Given the description of an element on the screen output the (x, y) to click on. 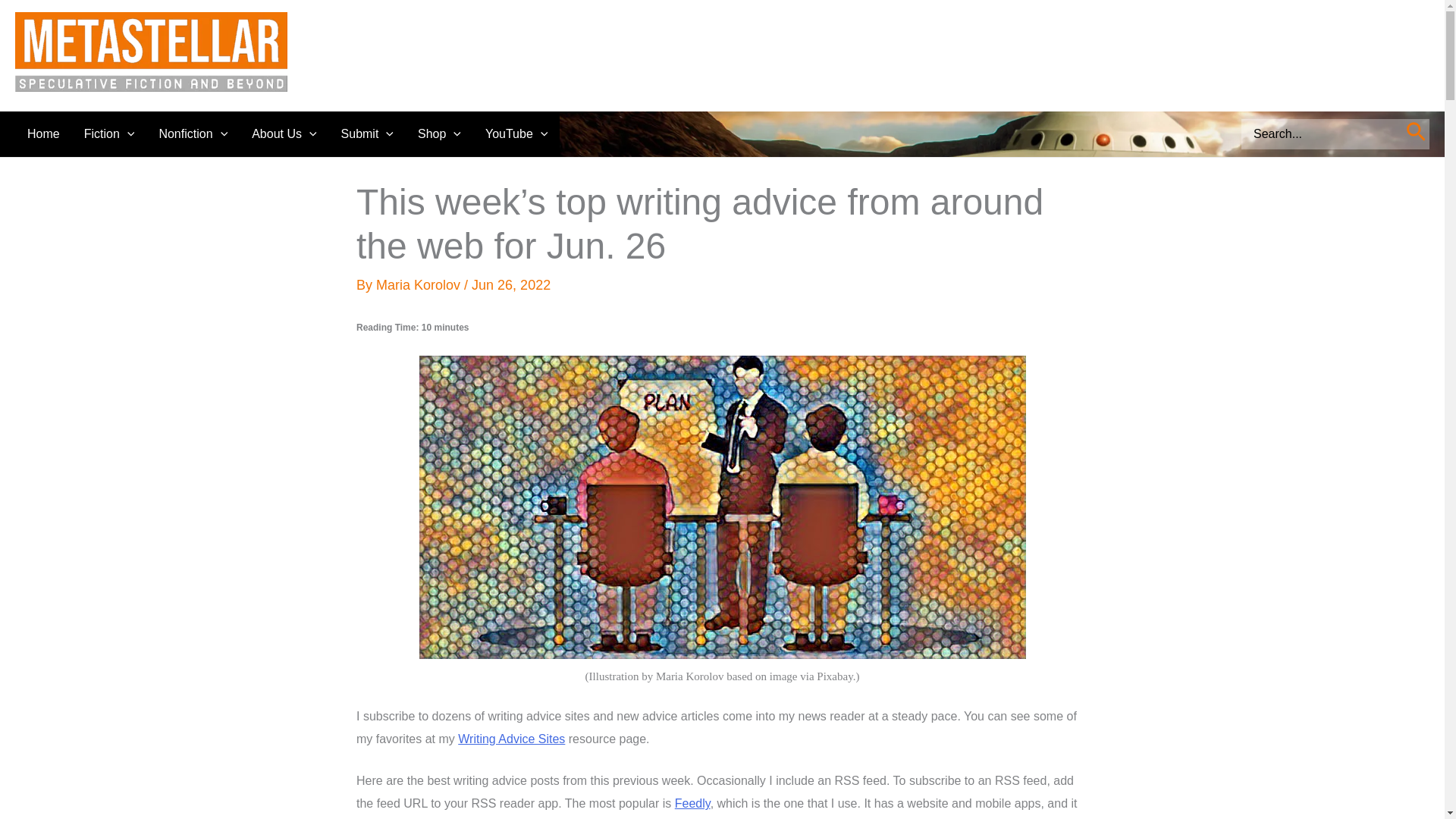
Submit (367, 134)
Nonfiction (193, 134)
Shop (439, 134)
View all posts by Maria Korolov (419, 284)
Home (42, 134)
Fiction (109, 134)
About Us (284, 134)
